Given the description of an element on the screen output the (x, y) to click on. 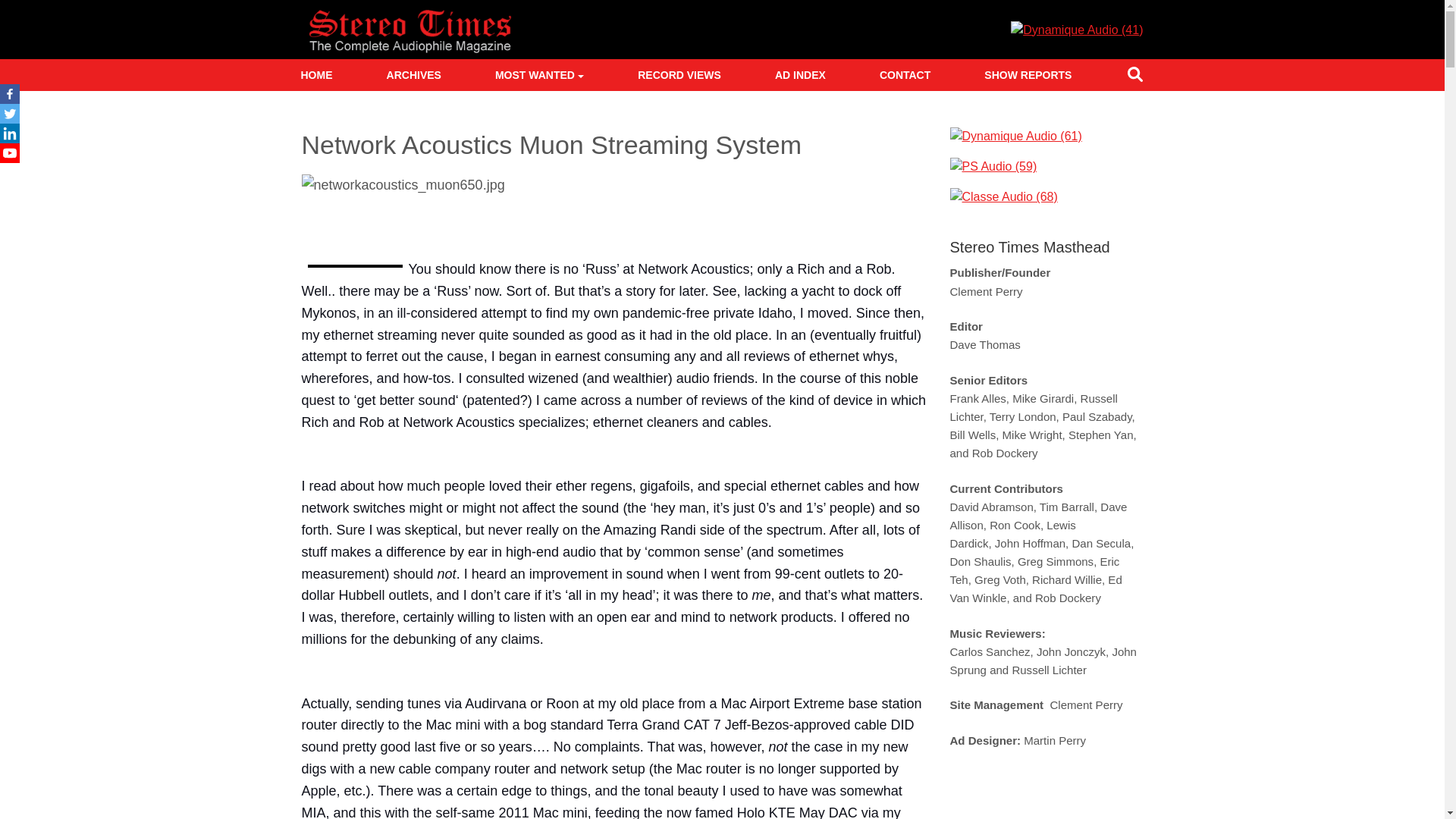
Facebook (10, 94)
SHOW REPORTS (1027, 74)
Linkedin (10, 133)
AD INDEX (799, 74)
RECORD VIEWS (679, 74)
Search (1134, 77)
CONTACT (904, 74)
MOST WANTED (539, 74)
HOME (315, 74)
Twitter (10, 113)
